Given the description of an element on the screen output the (x, y) to click on. 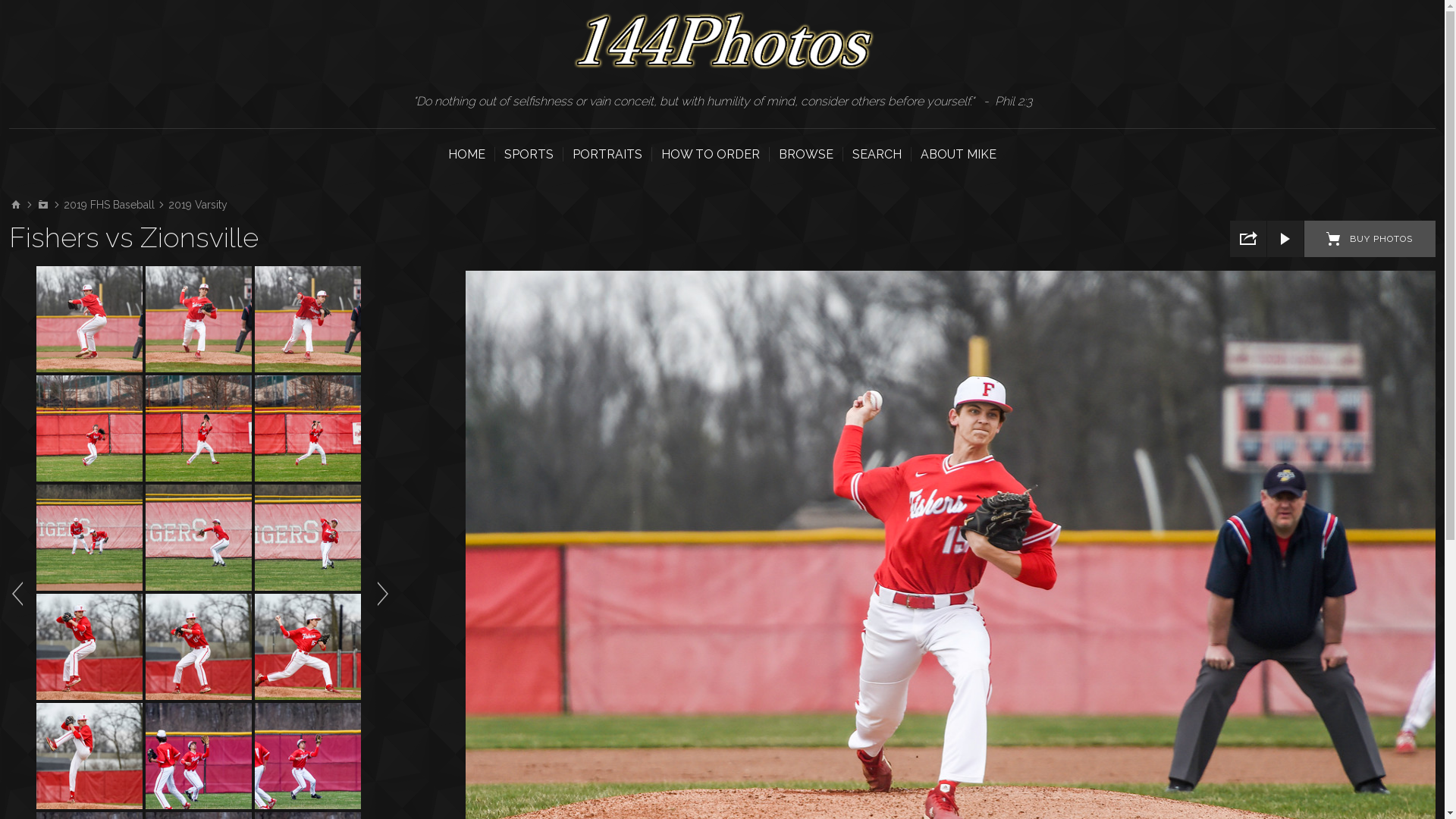
BROWSE Element type: text (805, 154)
Slideshow Element type: hover (1285, 238)
SEARCH Element type: text (876, 154)
Share Gallery Element type: hover (1248, 238)
HOME Element type: text (466, 154)
BUY PHOTOS Element type: text (1369, 238)
HOW TO ORDER Element type: text (710, 154)
2019 FHS Baseball Element type: text (108, 204)
2019 Varsity Element type: text (197, 204)
SPORTS Element type: text (528, 154)
ABOUT MIKE Element type: text (958, 154)
PORTRAITS Element type: text (607, 154)
